Given the description of an element on the screen output the (x, y) to click on. 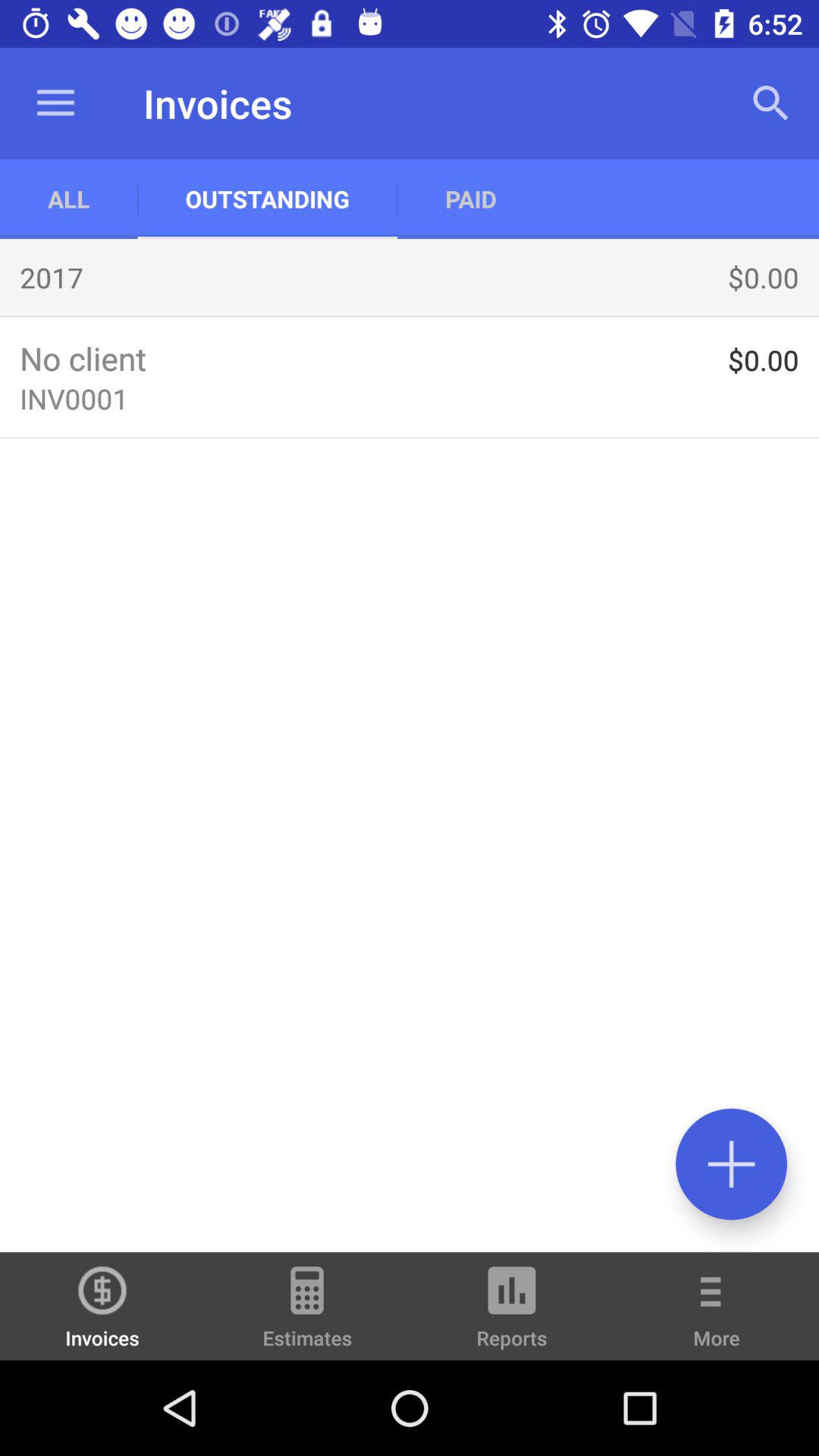
scroll until the reports (511, 1313)
